Given the description of an element on the screen output the (x, y) to click on. 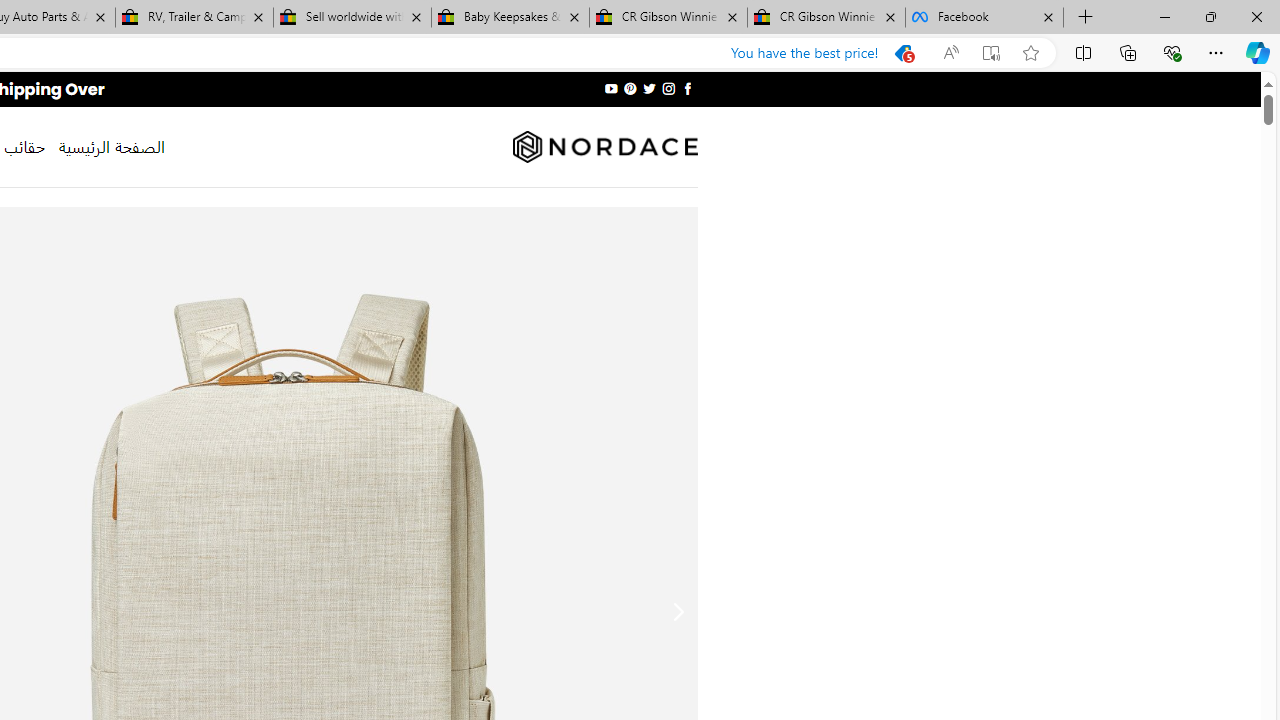
Follow on Twitter (648, 88)
Enter Immersive Reader (F9) (991, 53)
Follow on Facebook (686, 88)
